Given the description of an element on the screen output the (x, y) to click on. 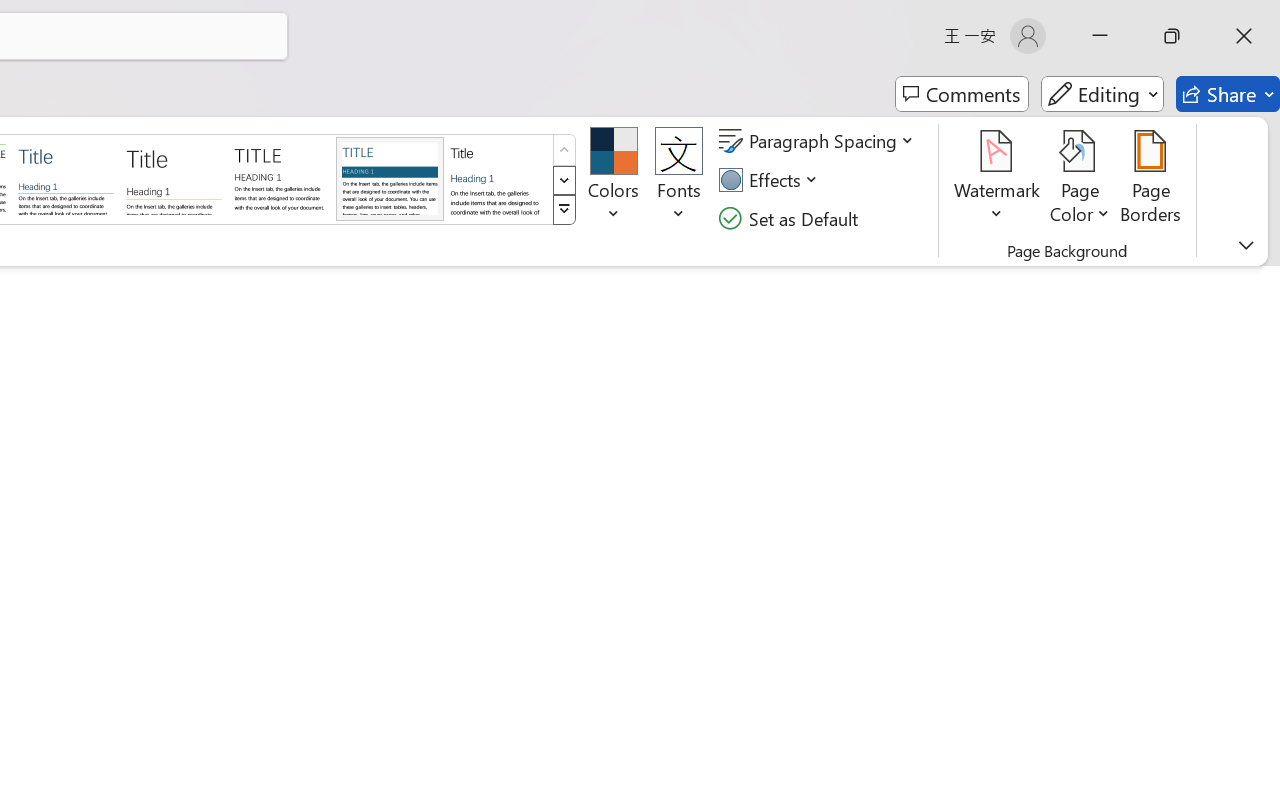
Class: NetUIImage (564, 210)
Page Borders... (1151, 179)
Close (1244, 36)
Page Color (1080, 179)
Watermark (997, 179)
Minimize (1099, 36)
Minimalist (281, 178)
Restore Down (1172, 36)
Row Down (564, 180)
Editing (1101, 94)
Paragraph Spacing (819, 141)
Comments (961, 94)
Style Set (564, 209)
Share (1228, 94)
Effects (771, 179)
